Given the description of an element on the screen output the (x, y) to click on. 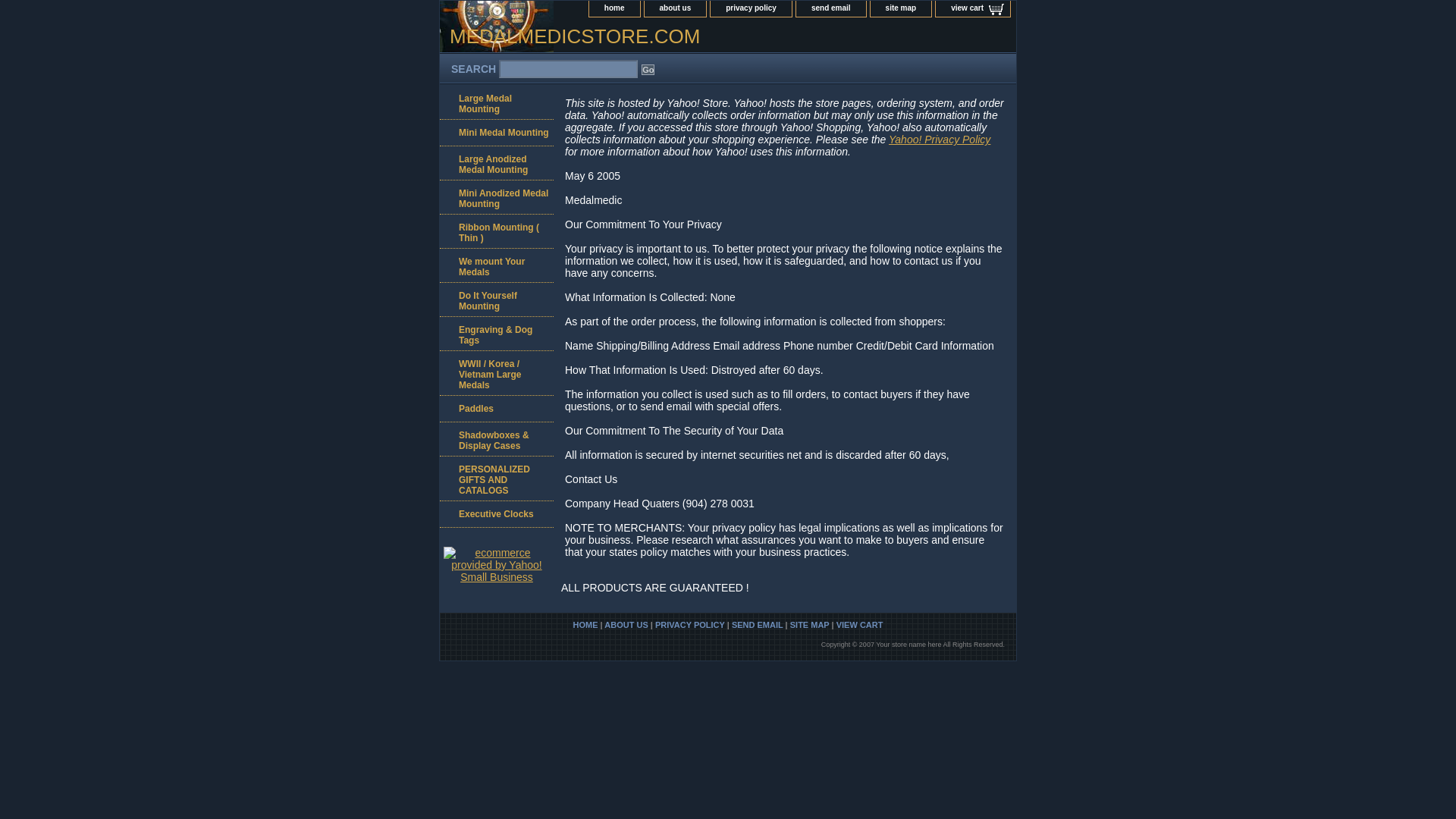
Executive Clocks (496, 514)
Large Medal Mounting (496, 102)
PRIVACY POLICY (690, 624)
Large Medal Mounting (496, 102)
SITE MAP (809, 624)
MEDALMEDICSTORE.COM (628, 38)
PERSONALIZED GIFTS AND CATALOGS (496, 478)
Mini Medal Mounting (496, 132)
Large Anodized Medal Mounting (496, 163)
We mount Your Medals (496, 265)
